Given the description of an element on the screen output the (x, y) to click on. 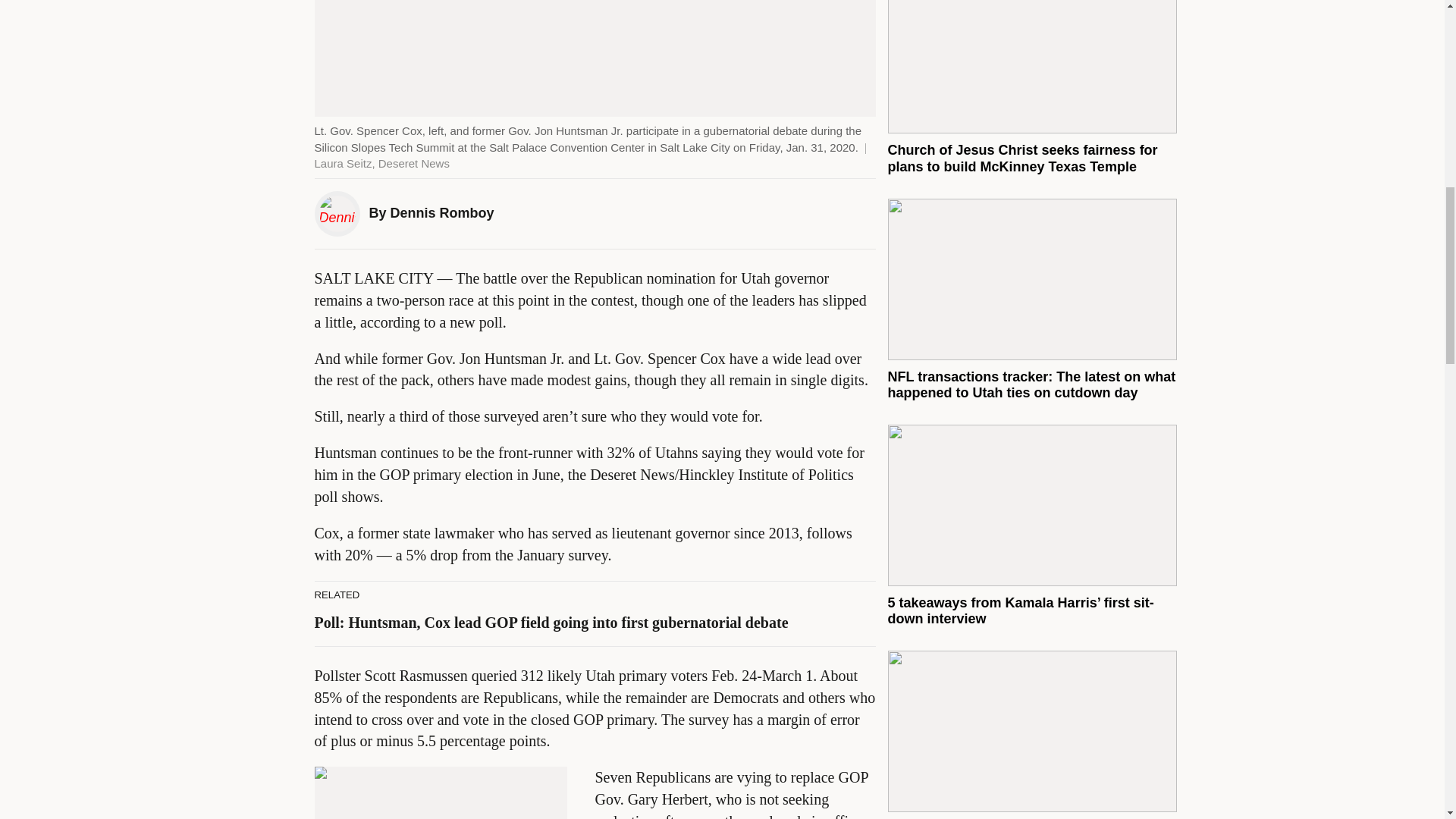
Dennis Romboy (442, 212)
